Given the description of an element on the screen output the (x, y) to click on. 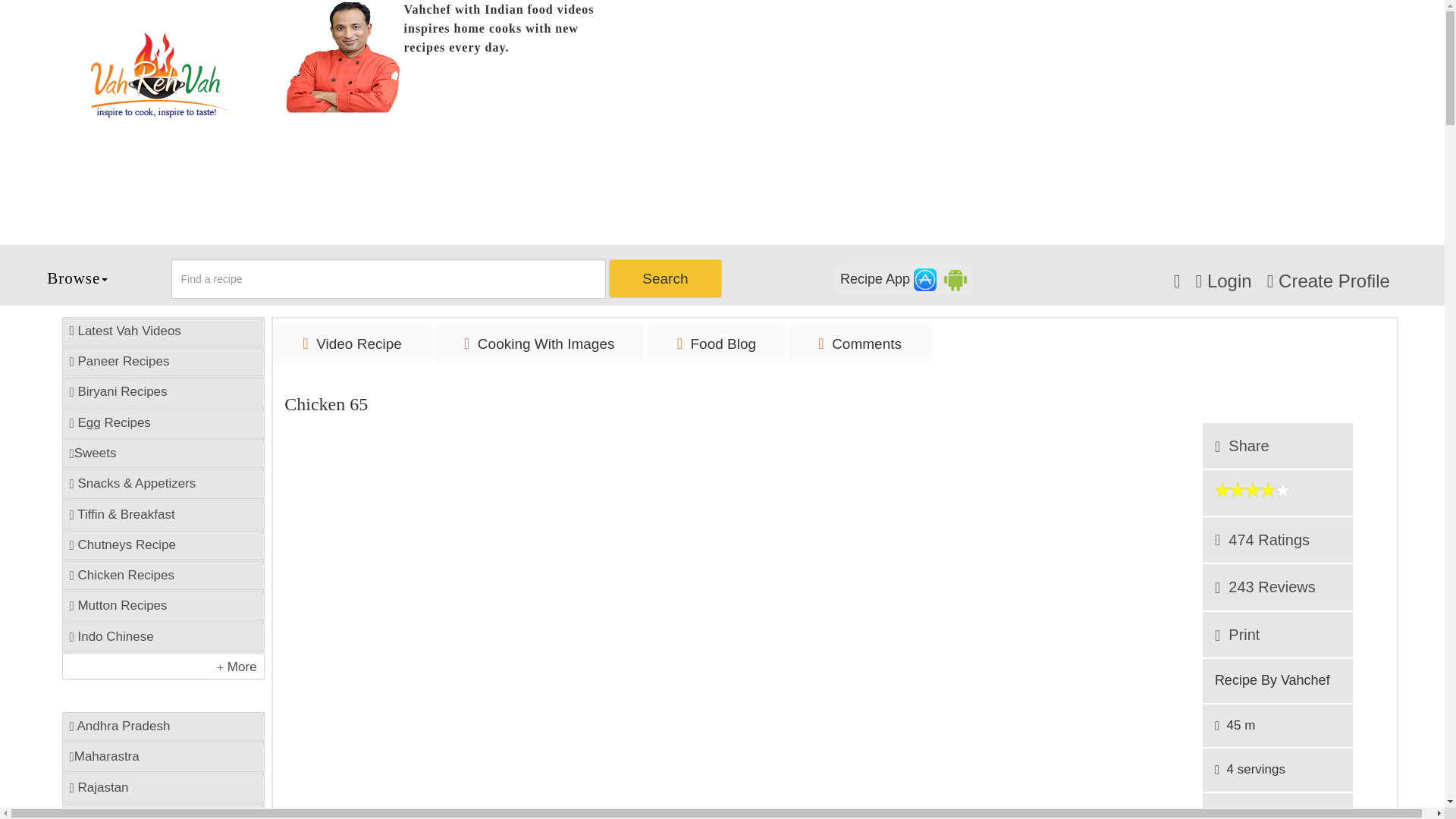
 Create Profile (1328, 281)
Recipe App    (903, 279)
Search (664, 278)
 Login (1222, 281)
sanjay thumma (343, 56)
vahrehvah (158, 74)
